Given the description of an element on the screen output the (x, y) to click on. 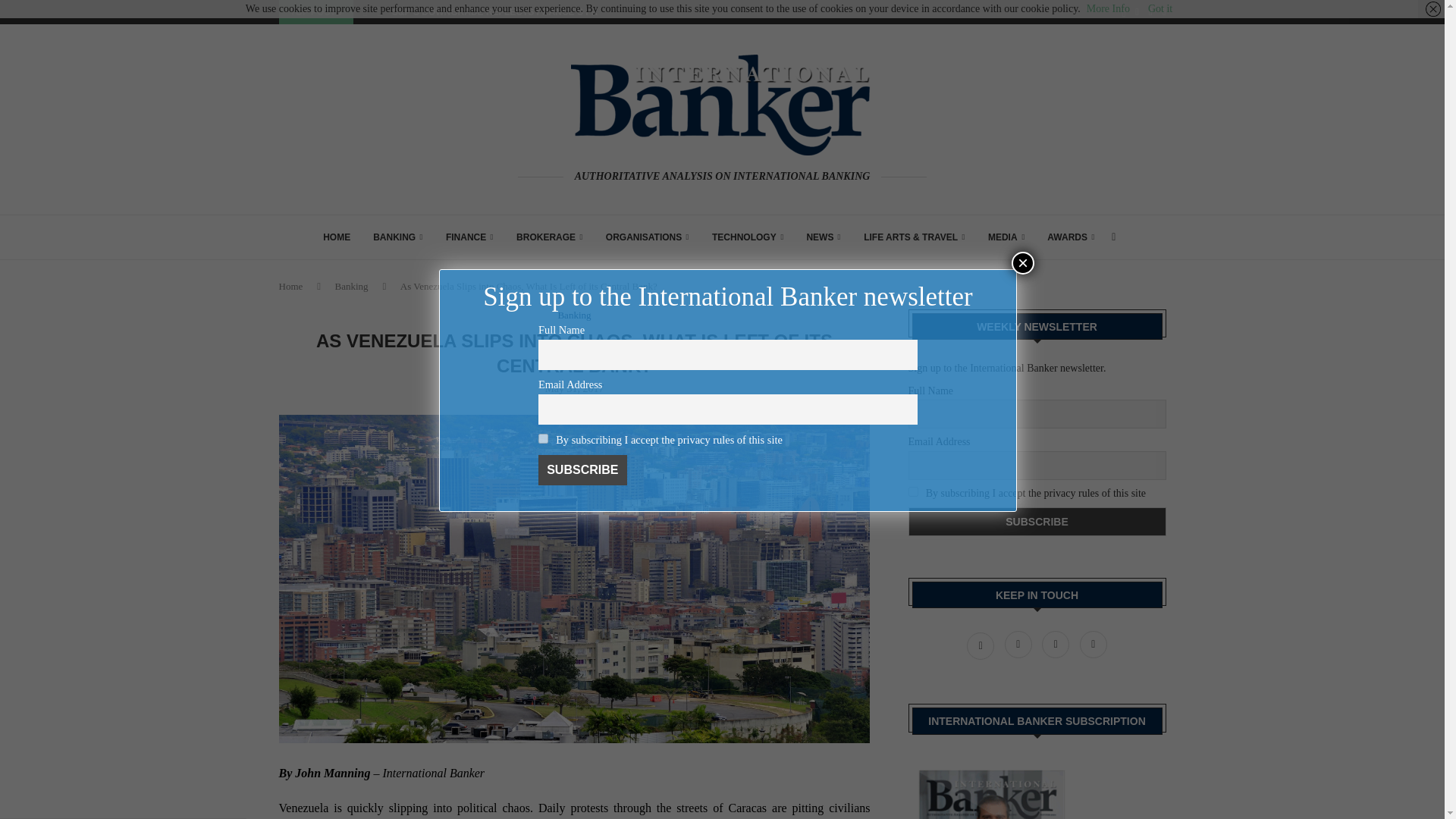
Subscribe (582, 470)
TECHNOLOGY (747, 237)
AWARDS (1070, 237)
FINANCE (469, 237)
Subscribe (1037, 521)
on (543, 438)
BROKERAGE (549, 237)
BANKING (397, 237)
Banking (351, 285)
ORGANISATIONS (646, 237)
Banking (574, 315)
on (913, 491)
Home (290, 285)
